Given the description of an element on the screen output the (x, y) to click on. 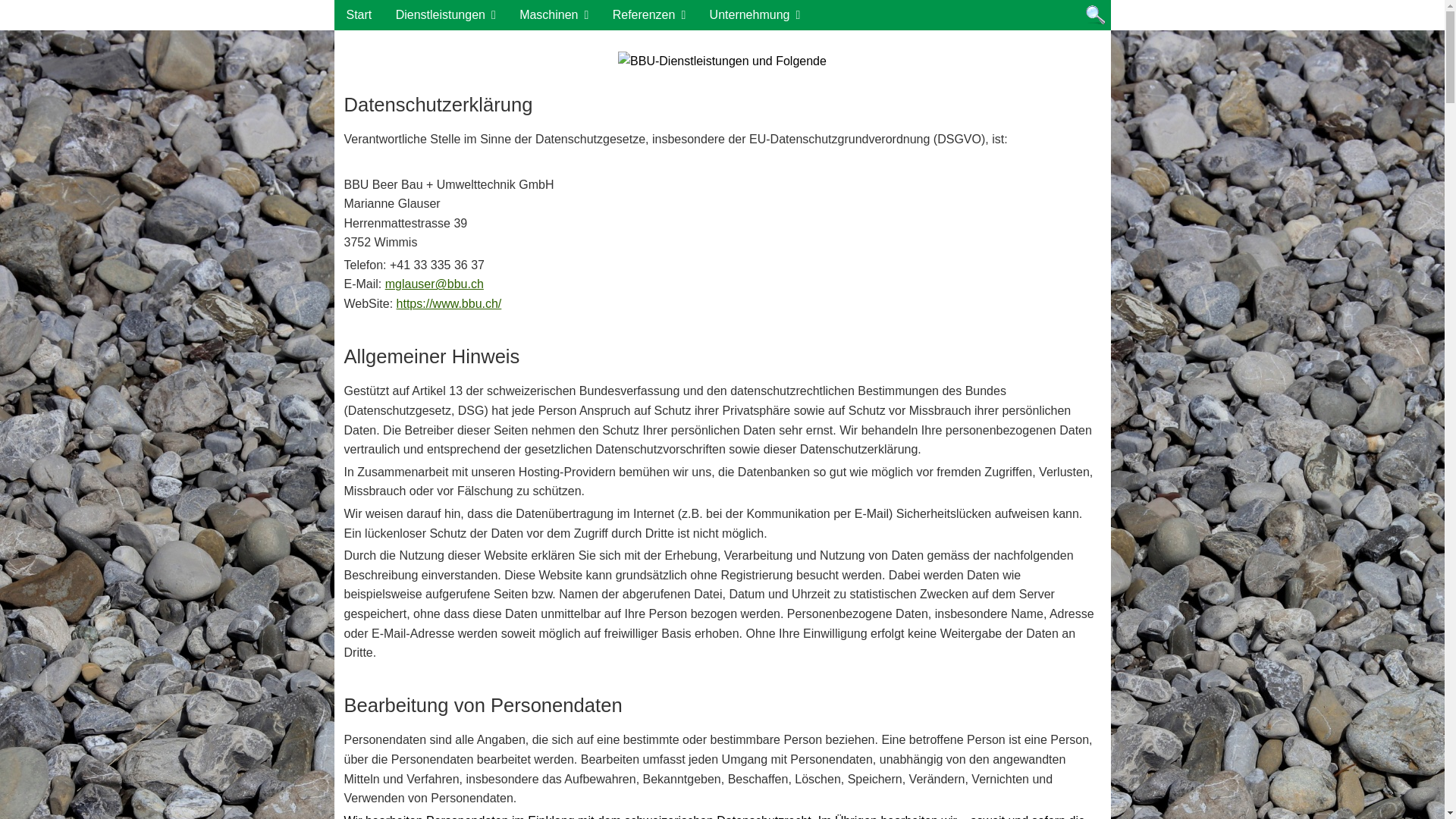
Maschinen Element type: text (553, 15)
Dienstleistungen Element type: text (445, 15)
mglauser@bbu.ch Element type: text (434, 283)
Suchen Element type: hover (1095, 14)
Start Element type: text (358, 15)
Referenzen Element type: text (649, 15)
Unternehmung Element type: text (754, 15)
https://www.bbu.ch/ Element type: text (449, 303)
